Given the description of an element on the screen output the (x, y) to click on. 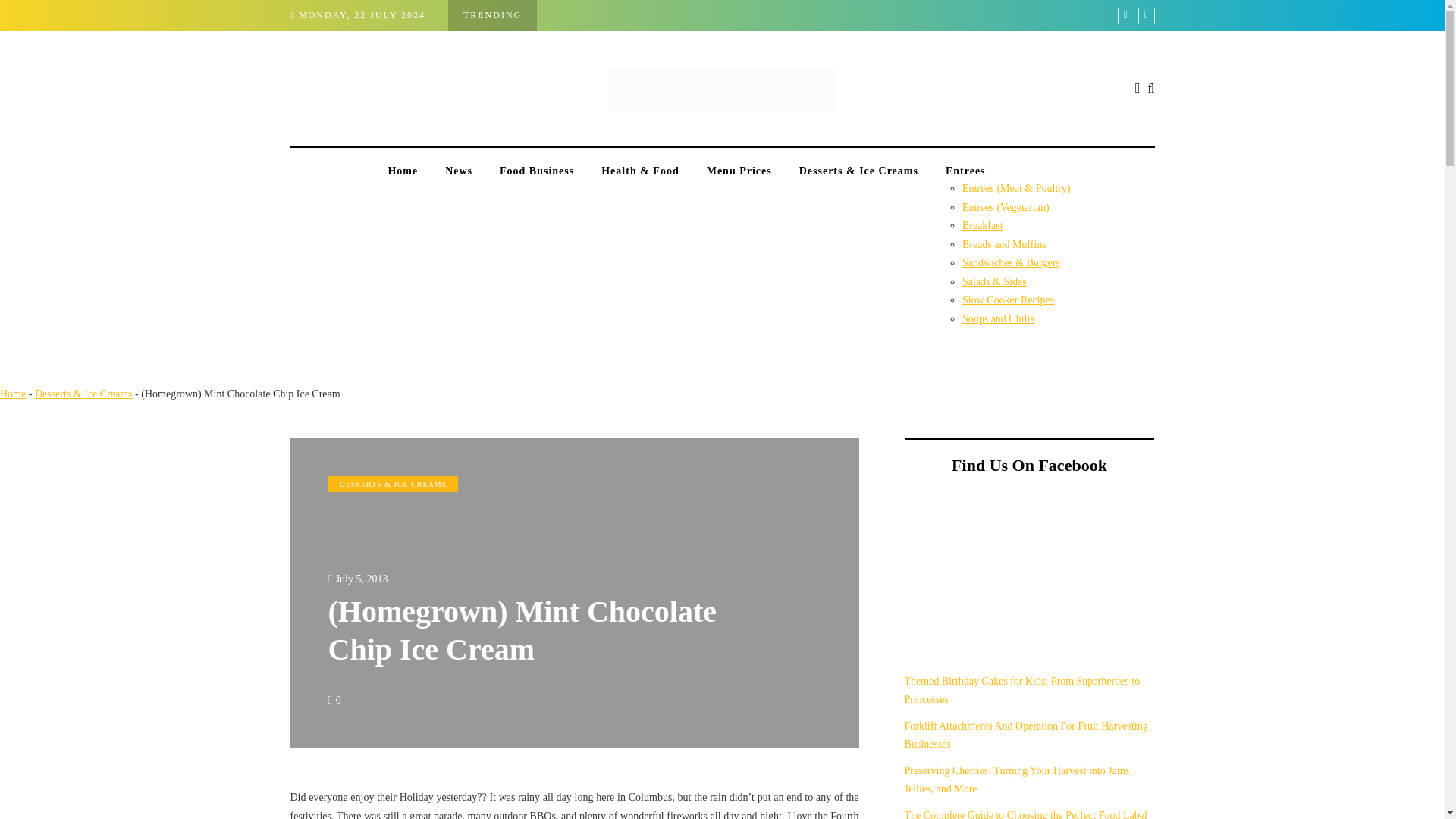
News (458, 170)
Home (13, 393)
Home (402, 170)
Slow Cooker Recipes (1008, 299)
Breakfast (982, 225)
Breads and Muffins (1004, 243)
Entrees (1000, 170)
Menu Prices (739, 170)
Food Business (537, 170)
Soups and Chilis (997, 317)
